Given the description of an element on the screen output the (x, y) to click on. 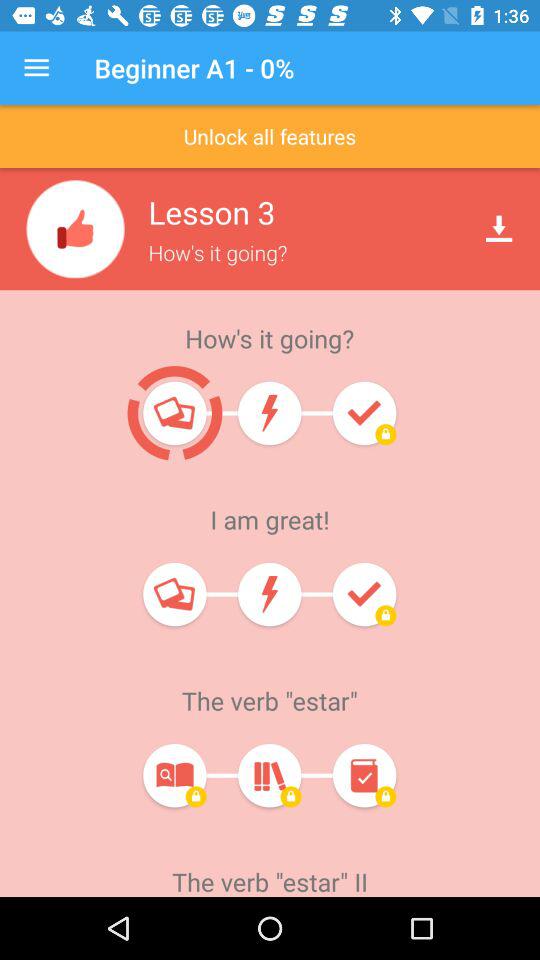
turn on the item above the unlock all features (36, 68)
